Given the description of an element on the screen output the (x, y) to click on. 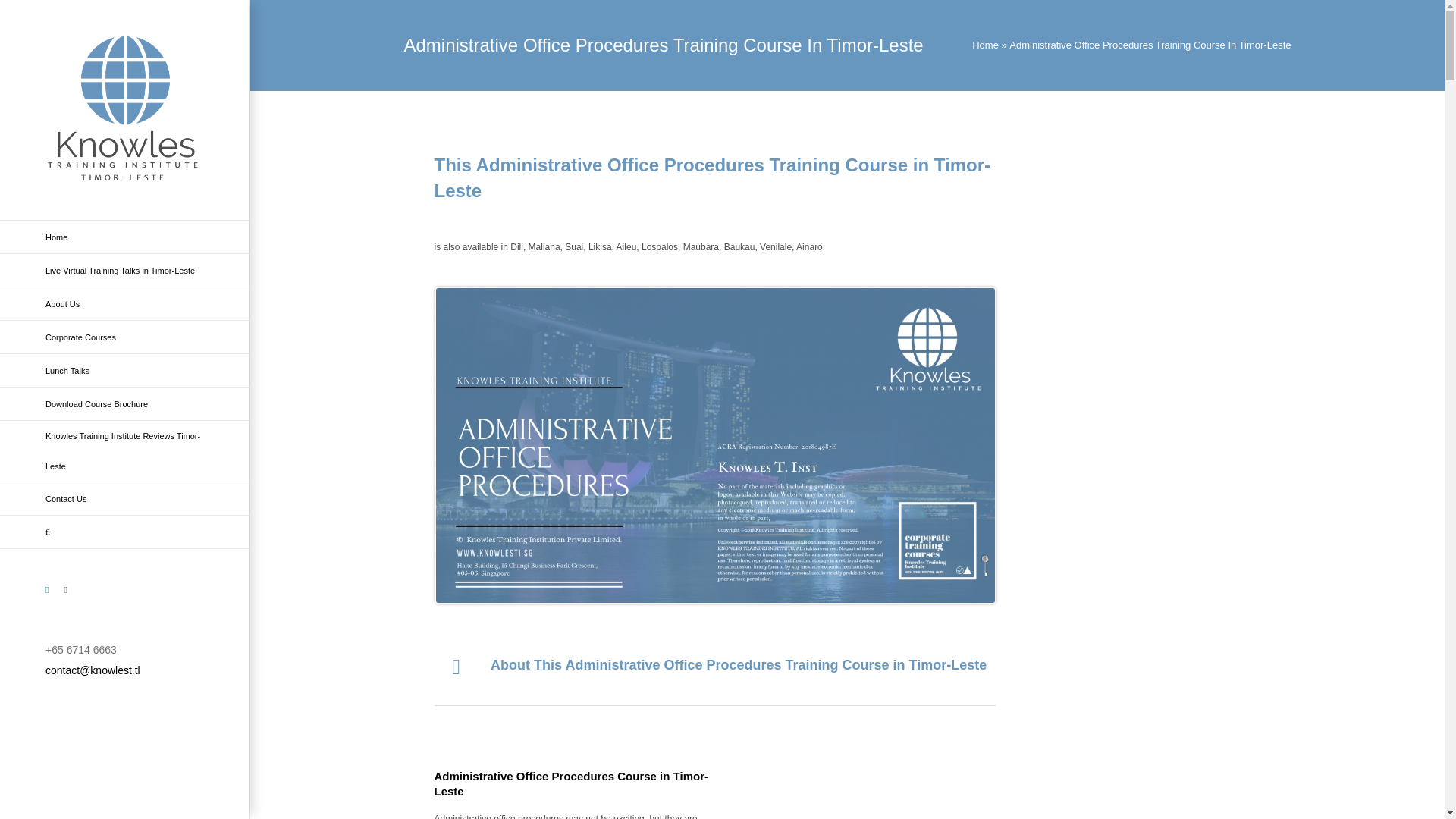
Home (125, 236)
Live Virtual Training Talks in Timor-Leste (125, 270)
Corporate Courses (125, 337)
Contact Us (125, 498)
Search (125, 531)
Home (985, 44)
Download Course Brochure (125, 403)
Vimeo video player 1 (942, 788)
About Us (125, 304)
Knowles Training Institute Reviews Timor-Leste (125, 451)
Lunch Talks (125, 370)
